Given the description of an element on the screen output the (x, y) to click on. 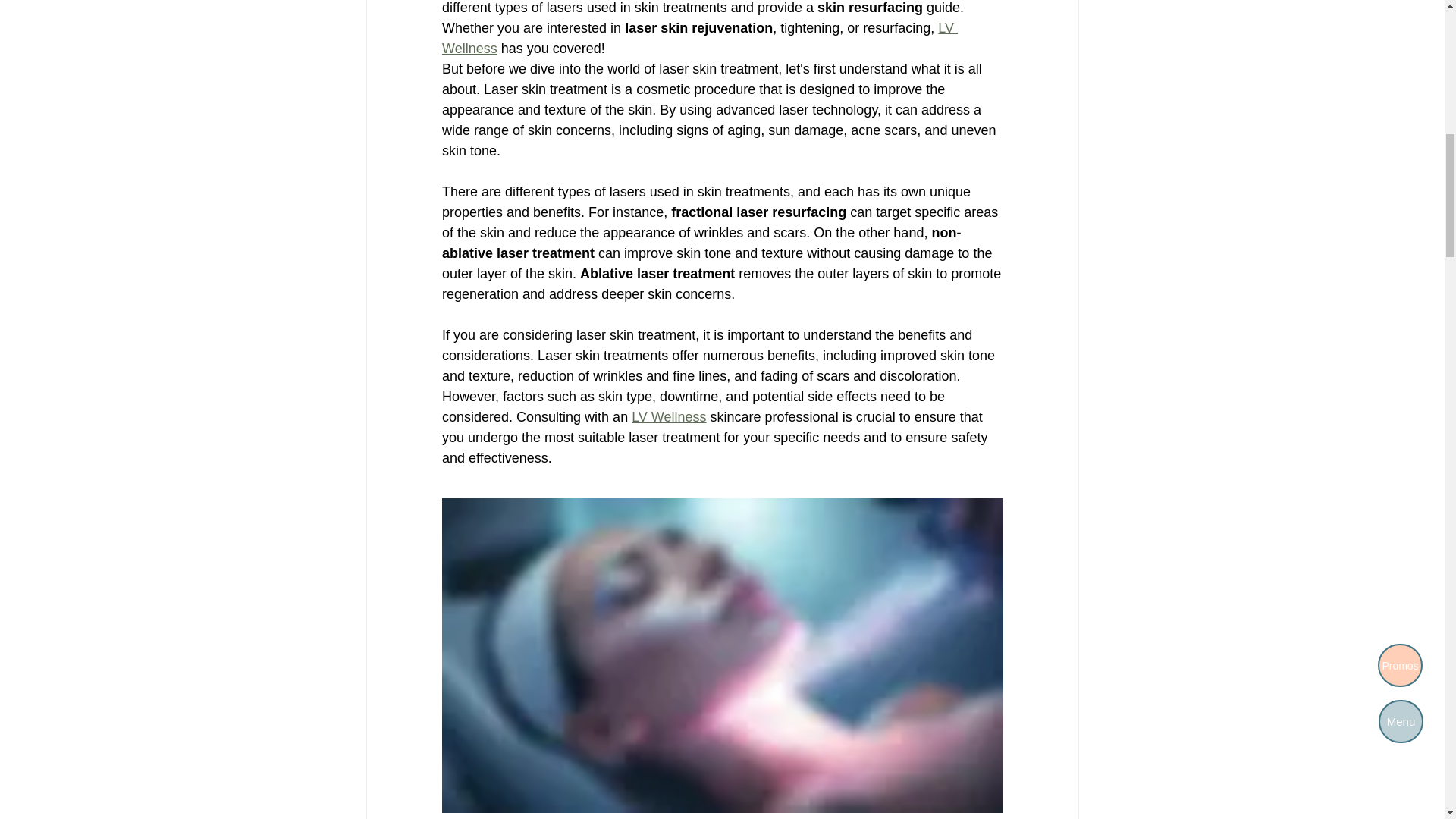
LV Wellness (668, 417)
LV Wellness (698, 38)
